Given the description of an element on the screen output the (x, y) to click on. 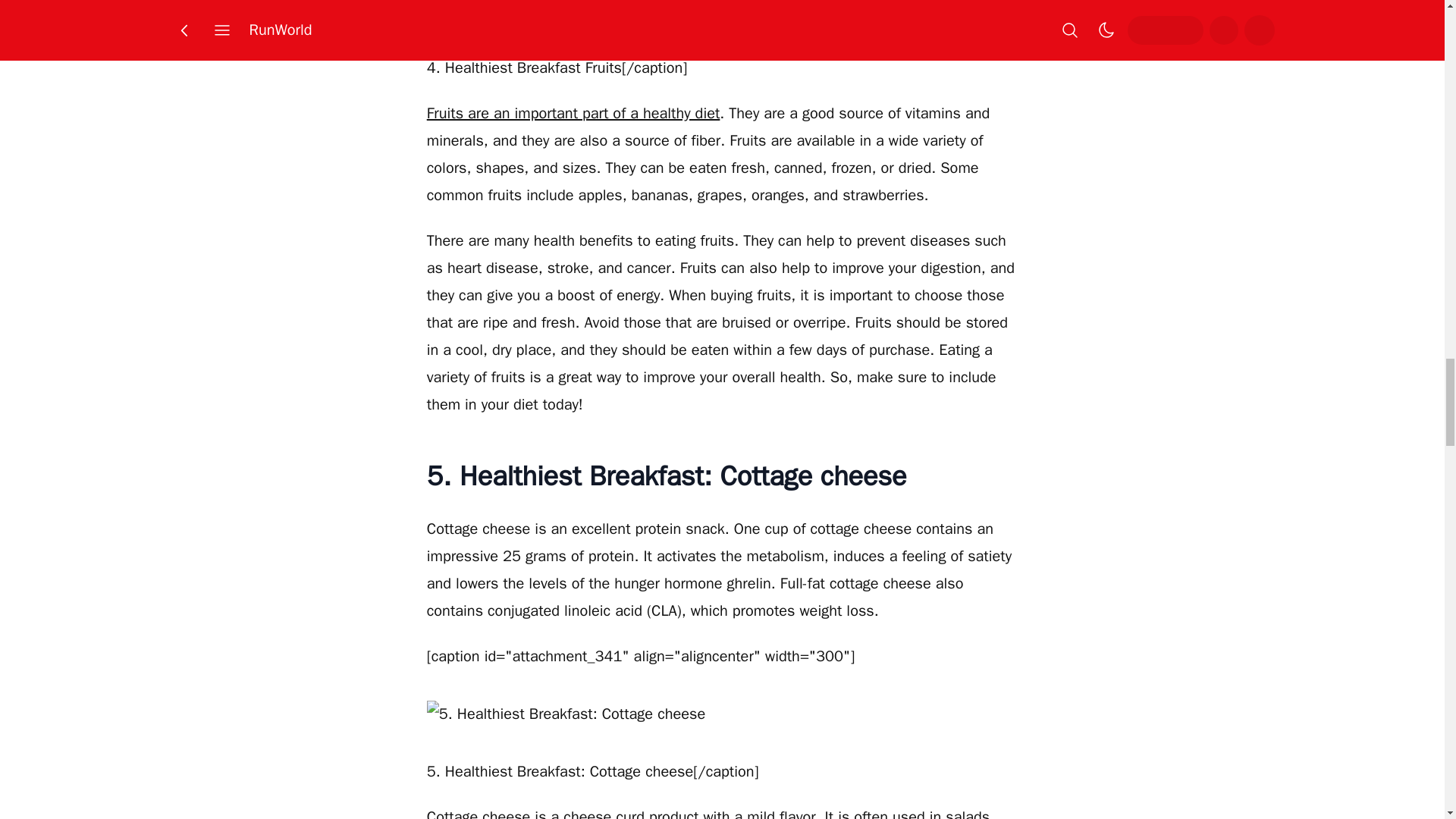
Fruits are an important part of a healthy diet (573, 113)
